Given the description of an element on the screen output the (x, y) to click on. 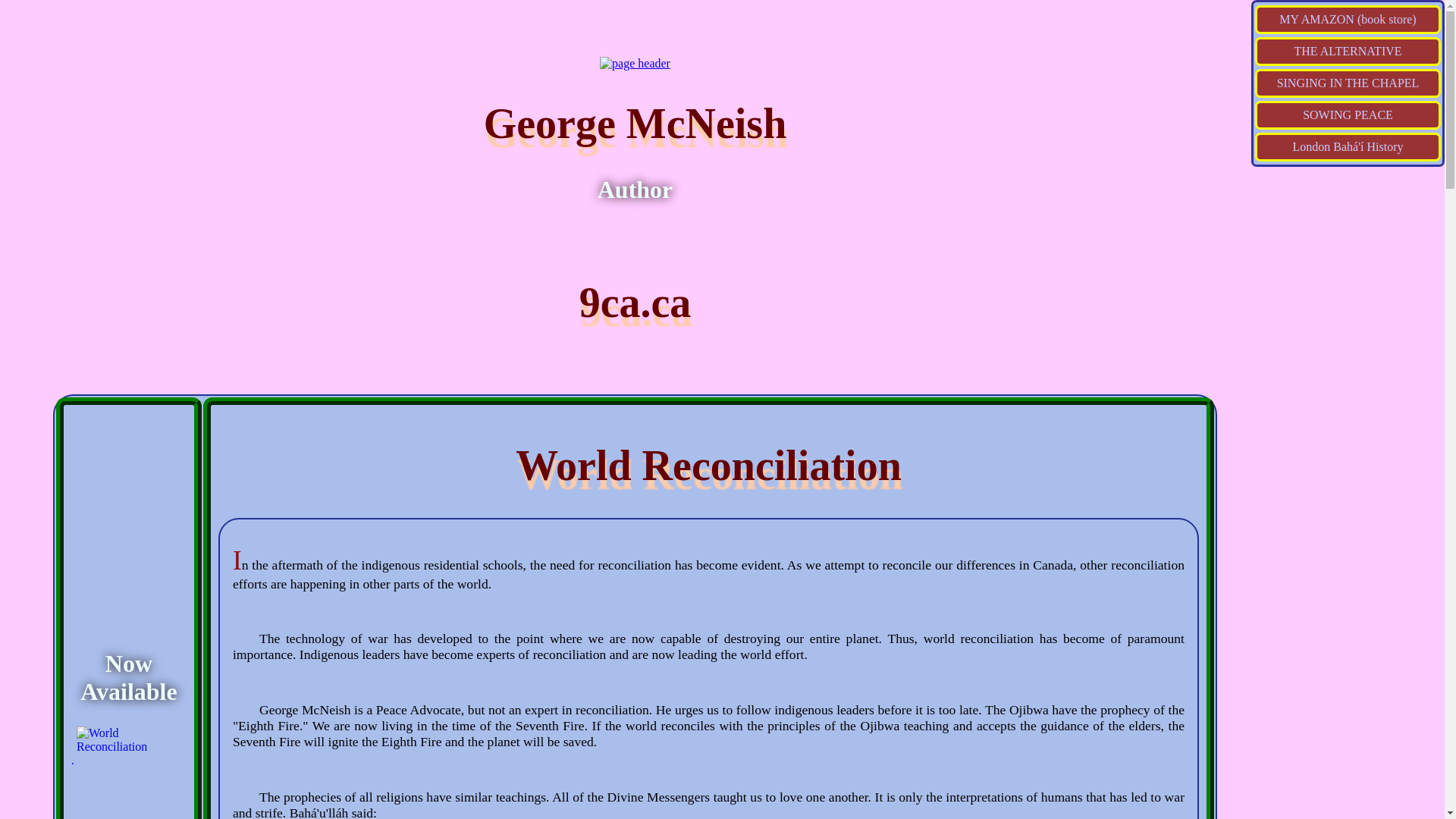
SOWING PEACE Element type: text (1347, 114)
SINGING IN THE CHAPEL Element type: text (1347, 83)
. Element type: text (131, 752)
THE ALTERNATIVE Element type: text (1347, 51)
MY AMAZON (book store) Element type: text (1347, 19)
